Given the description of an element on the screen output the (x, y) to click on. 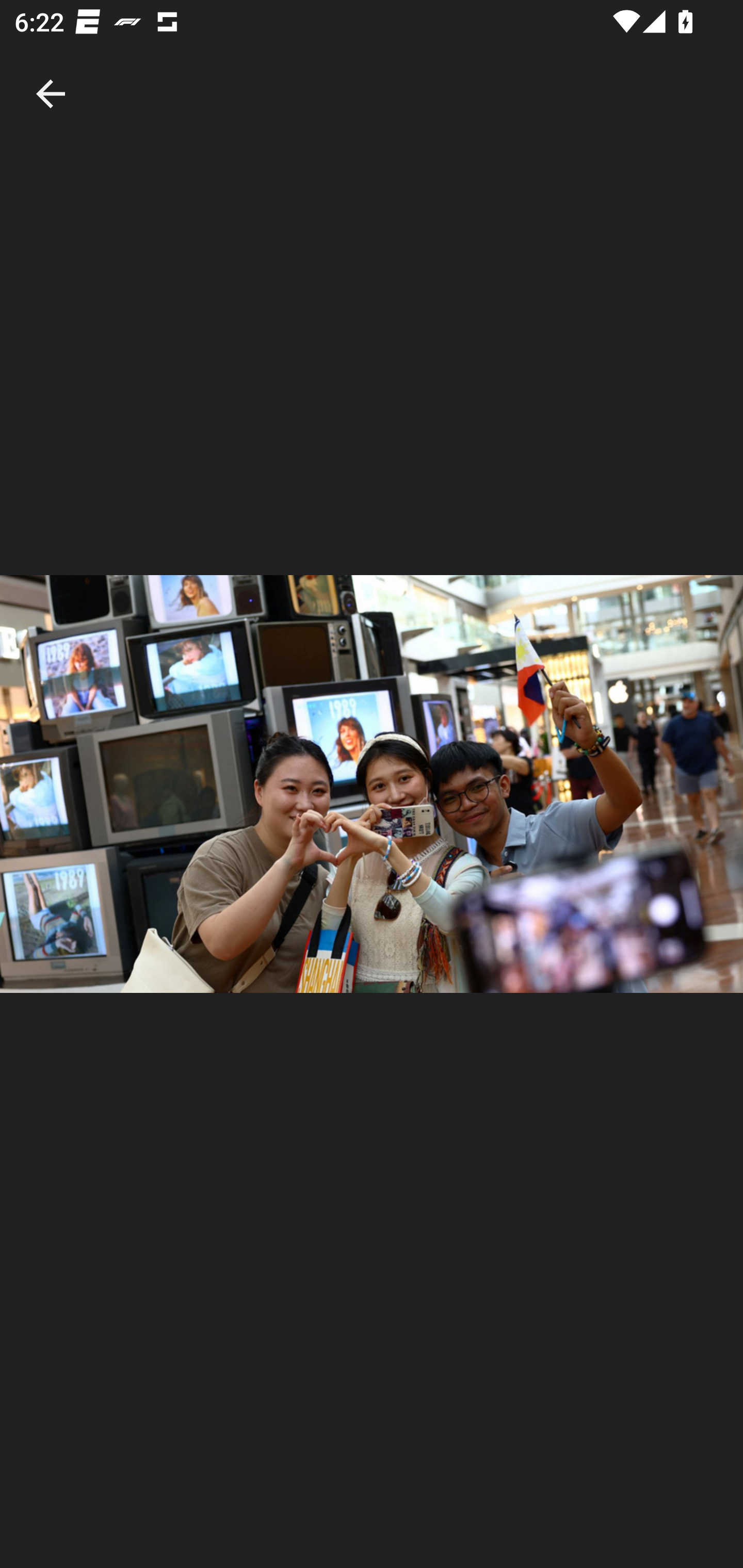
Back (50, 72)
